Given the description of an element on the screen output the (x, y) to click on. 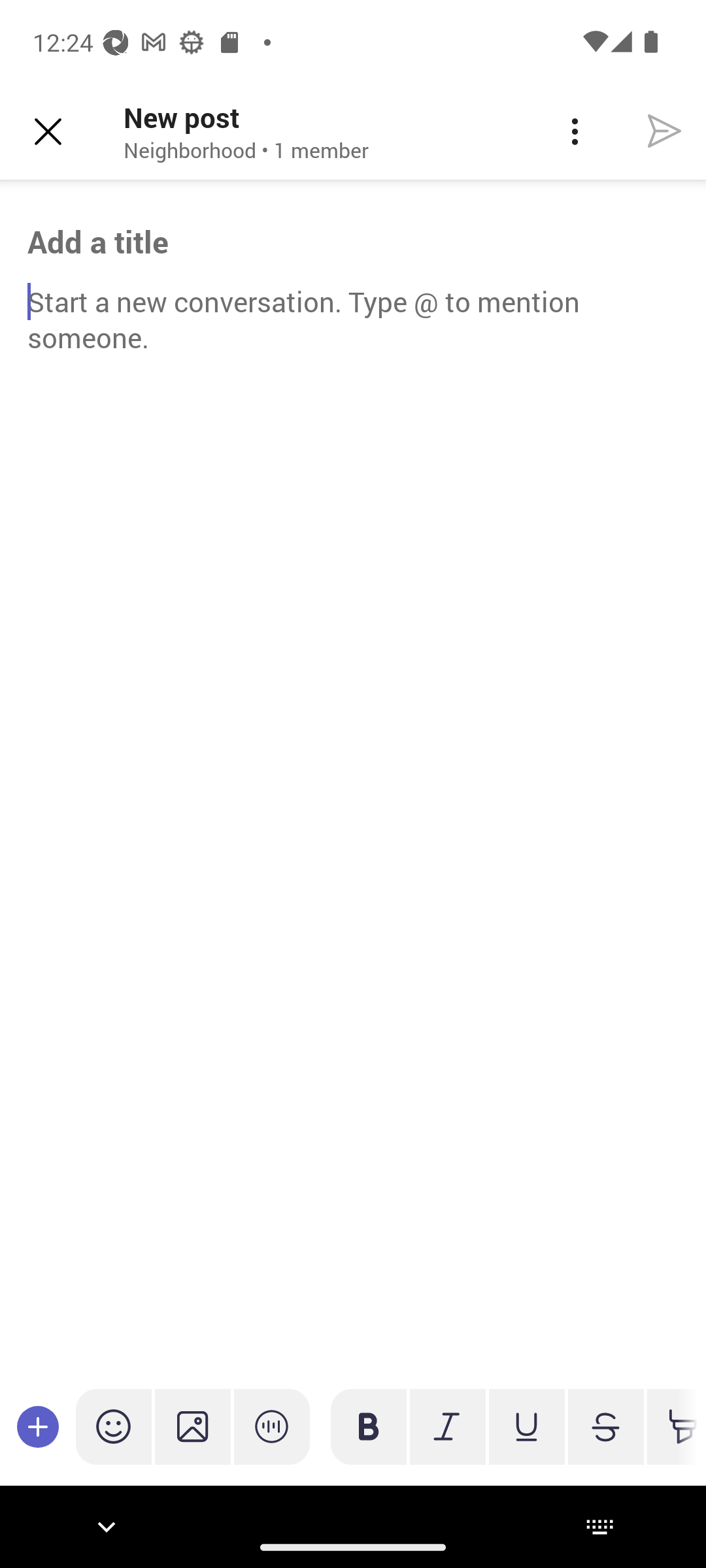
Dismiss (48, 131)
Email options (574, 131)
Send message (664, 131)
Add a title (353, 241)
Compose options, collapsed (37, 1426)
GIFs and emojis picker (113, 1426)
Media (192, 1426)
Record audio message (271, 1426)
Bold (368, 1426)
Italic (447, 1426)
Underline (526, 1426)
Strikethrough (605, 1426)
Select text highlight color (672, 1426)
